Given the description of an element on the screen output the (x, y) to click on. 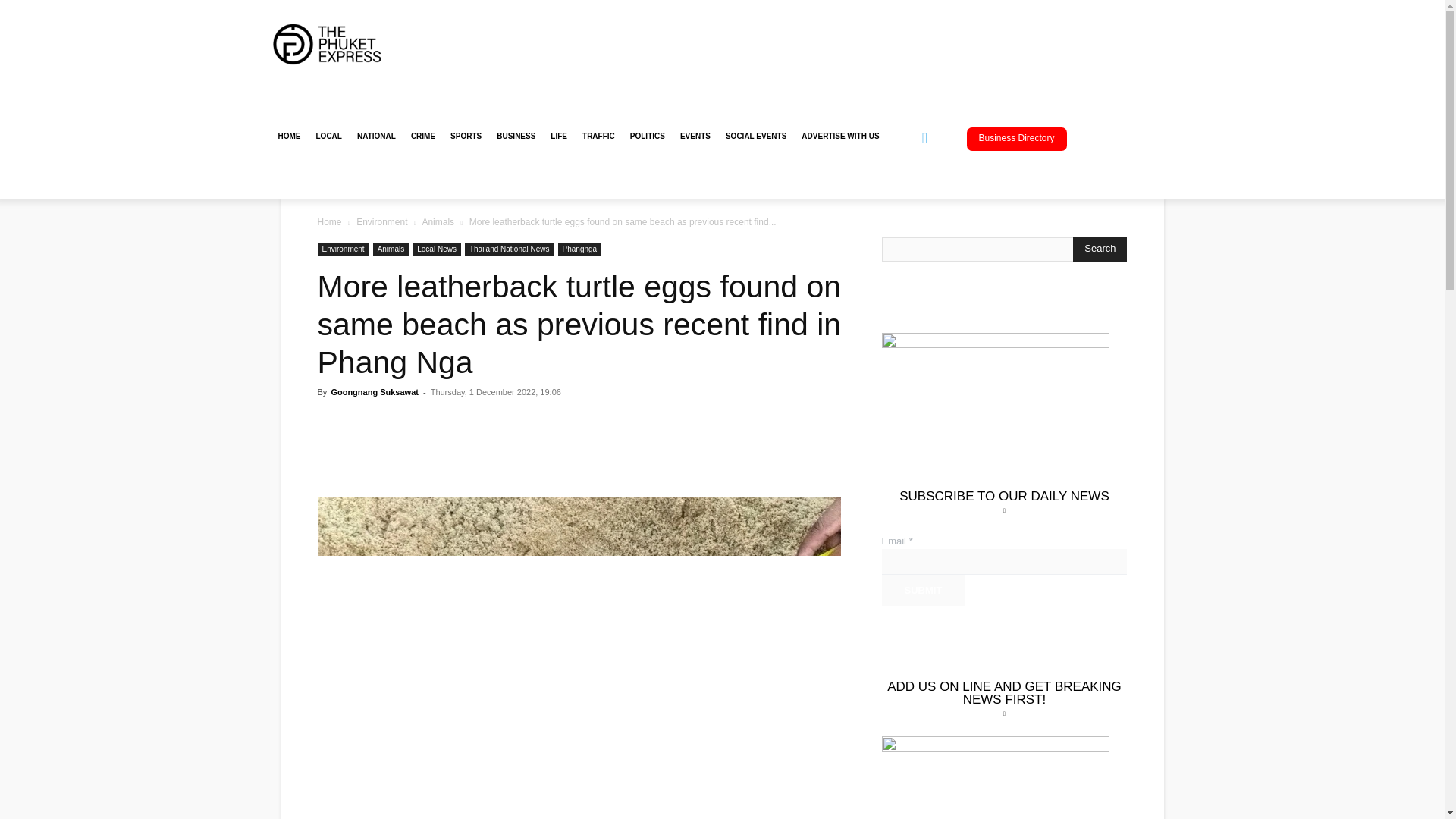
Business Directory (1015, 138)
SOCIAL EVENTS (755, 136)
NATIONAL (376, 136)
POLITICS (647, 136)
ADVERTISE WITH US (839, 136)
SPORTS (465, 136)
BUSINESS (516, 136)
Home (328, 222)
